Given the description of an element on the screen output the (x, y) to click on. 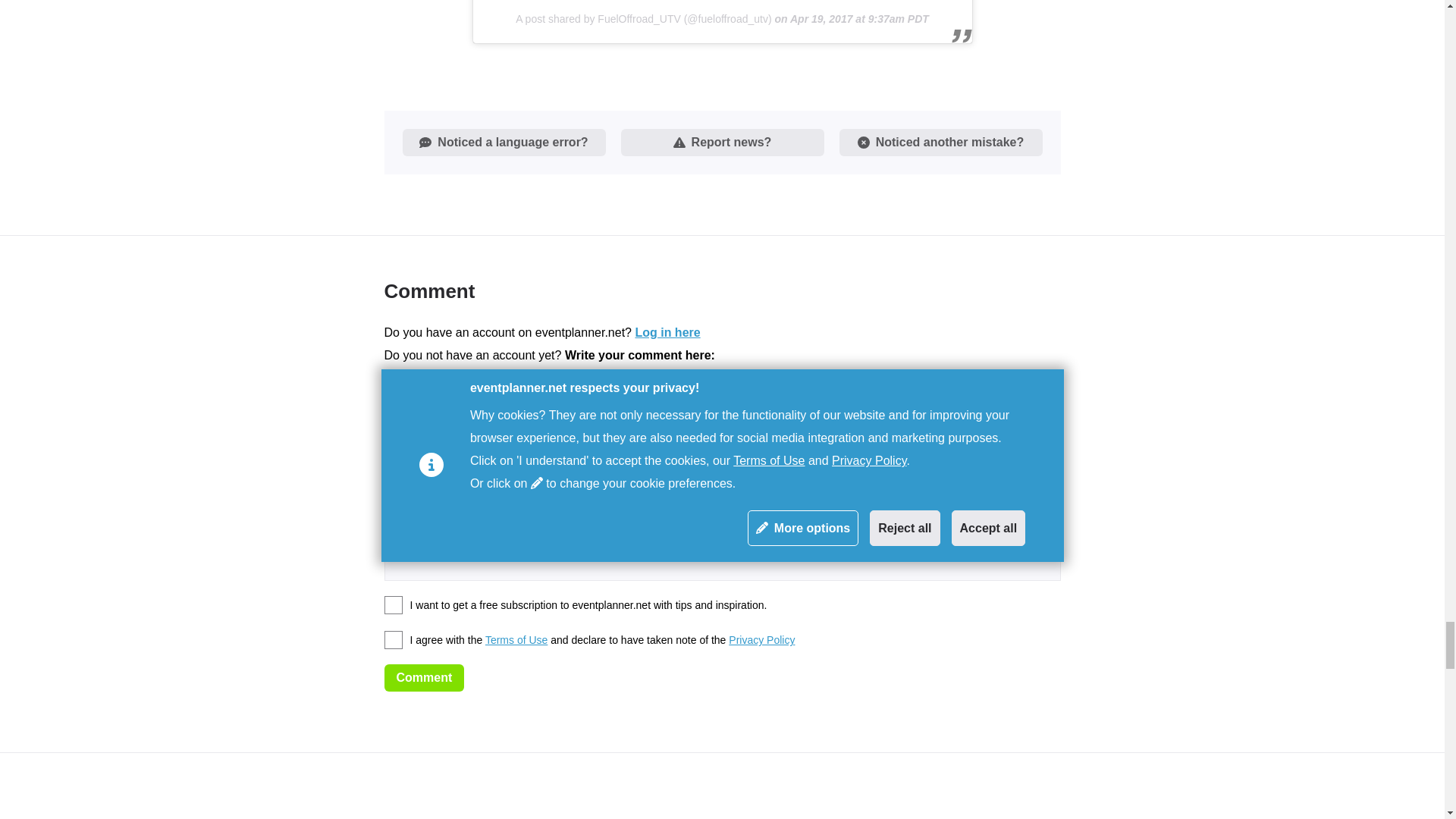
Comment (424, 677)
